Given the description of an element on the screen output the (x, y) to click on. 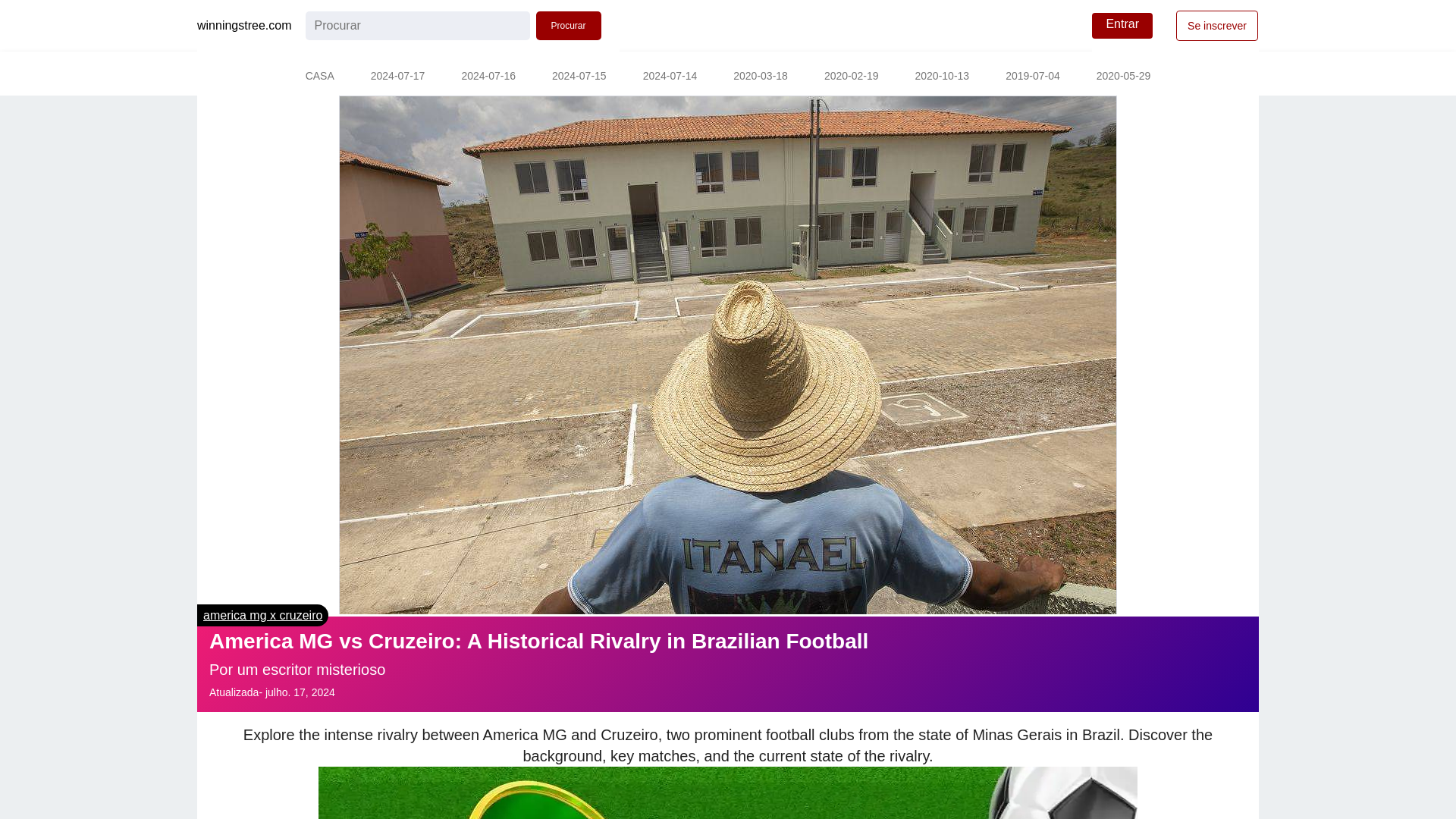
2024-07-16 (488, 76)
2019-07-04 (1032, 76)
america mg x cruzeiro (262, 615)
2024-07-14 (670, 76)
2020-05-29 (1123, 76)
CASA (319, 76)
Entrar (1122, 25)
2024-07-17 (398, 76)
2020-02-19 (851, 76)
2024-07-15 (579, 76)
2020-03-18 (760, 76)
Procurar (568, 25)
winningstree.com (244, 25)
2020-10-13 (941, 76)
